Given the description of an element on the screen output the (x, y) to click on. 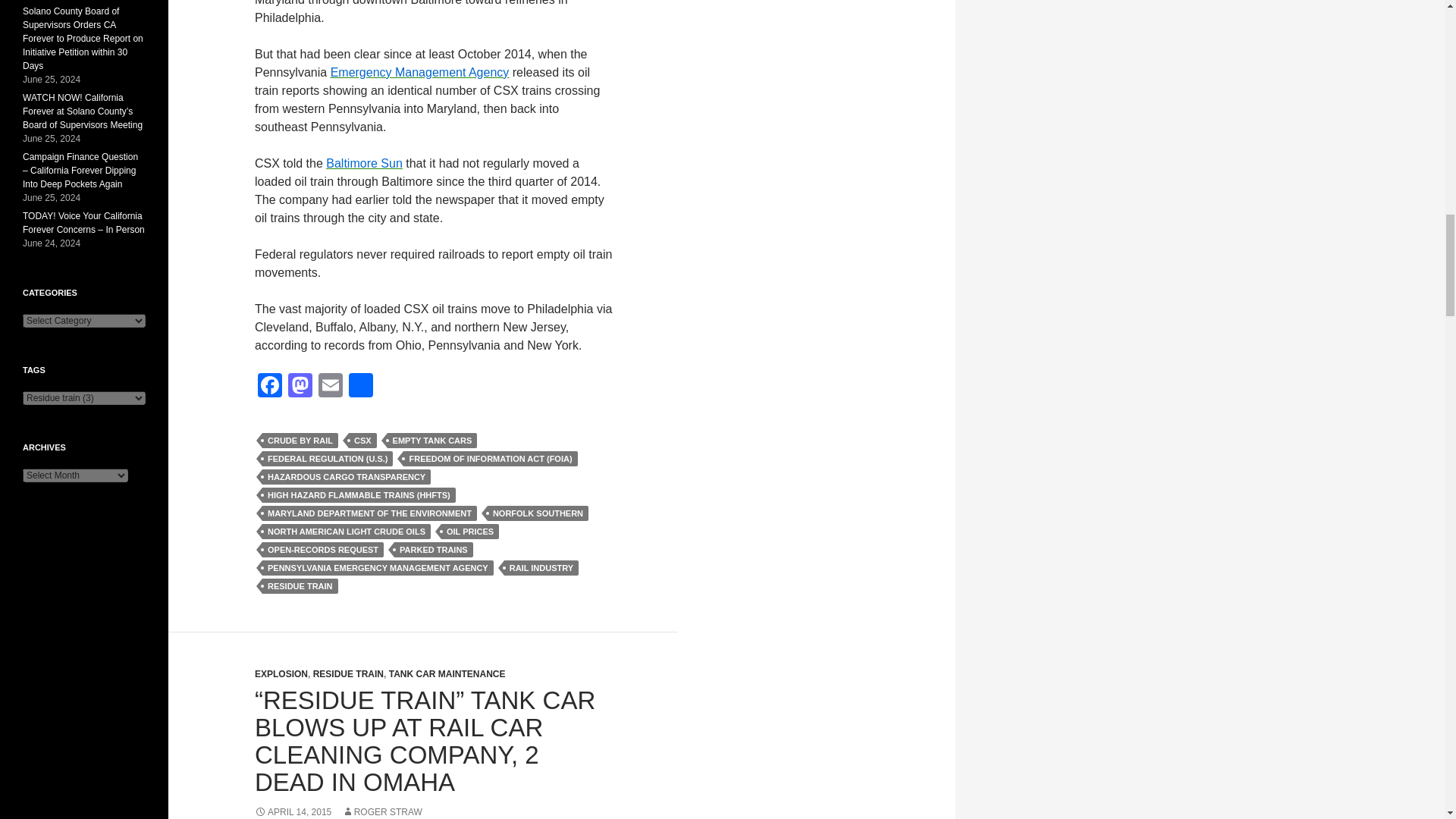
Email (330, 387)
Facebook (269, 387)
Mastodon (300, 387)
